Given the description of an element on the screen output the (x, y) to click on. 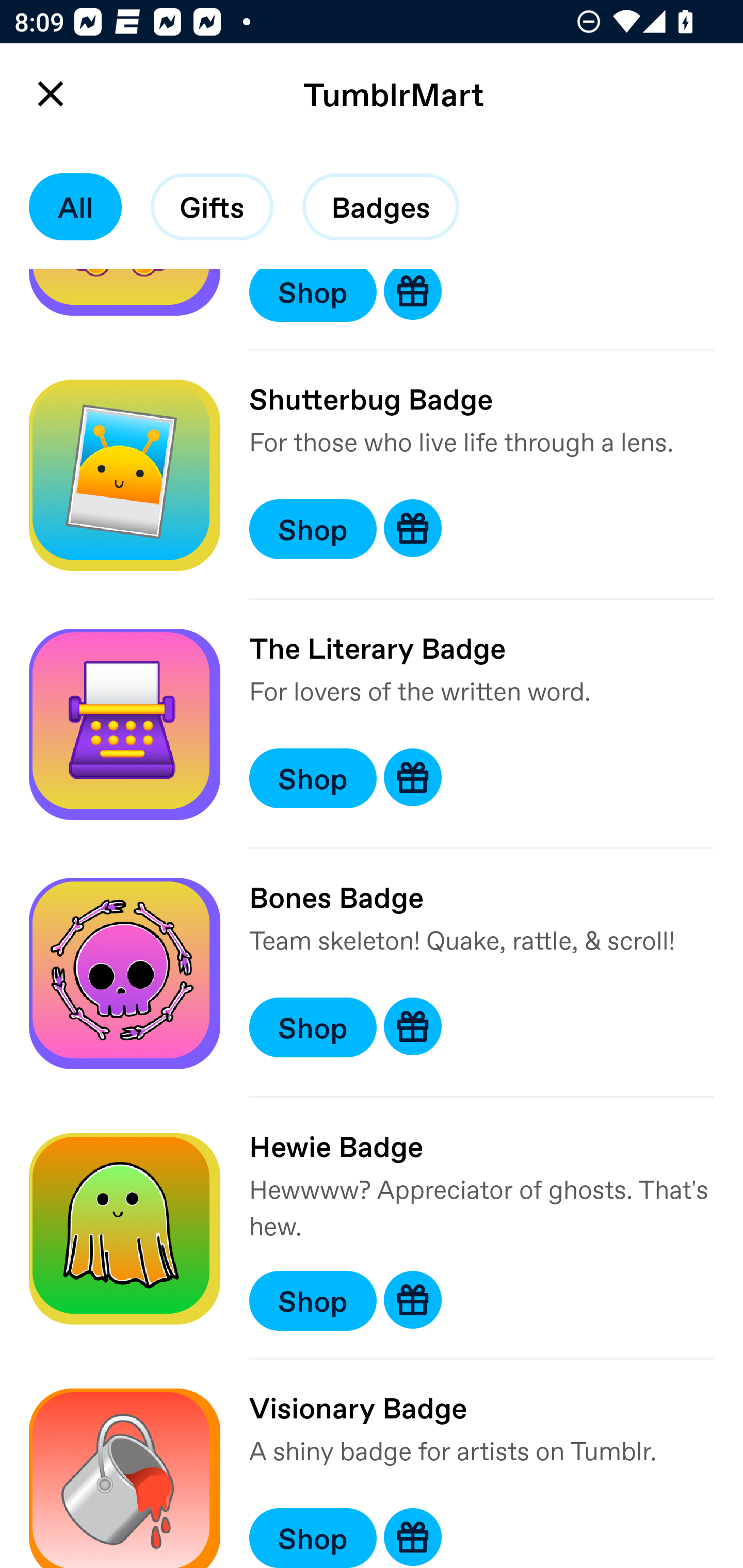
All (74, 206)
Gifts (211, 206)
Badges (380, 206)
Shop (312, 295)
Shop (312, 528)
Shop (312, 777)
Shop (312, 1026)
Shop (312, 1301)
Shop (312, 1538)
